Given the description of an element on the screen output the (x, y) to click on. 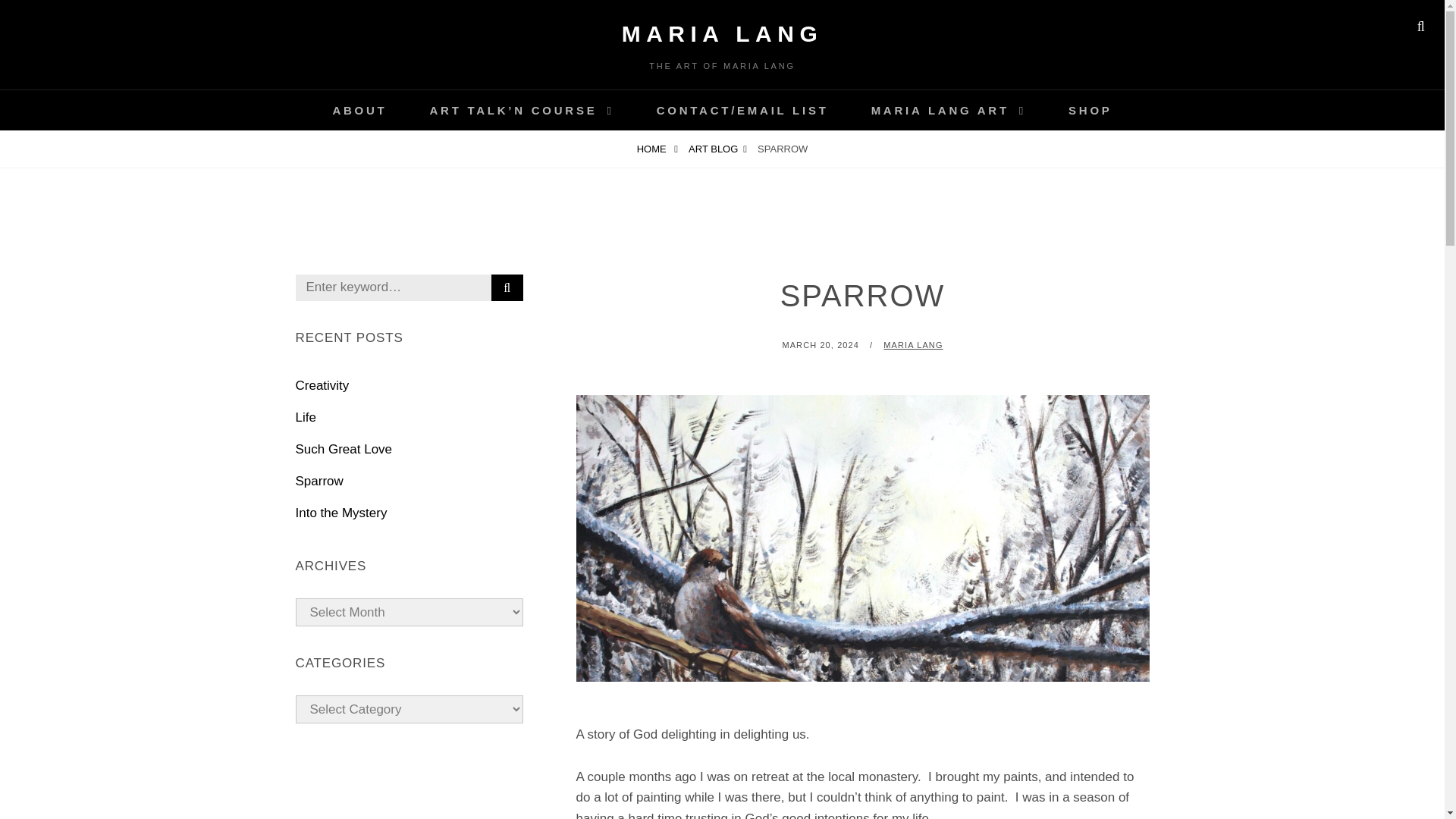
SHOP (1090, 110)
MARIA LANG (912, 344)
MARIA LANG (722, 33)
Sparrow (319, 481)
Creativity (322, 385)
HOME (656, 148)
ART BLOG (717, 148)
Into the Mystery (341, 513)
MARIA LANG ART (948, 110)
